Given the description of an element on the screen output the (x, y) to click on. 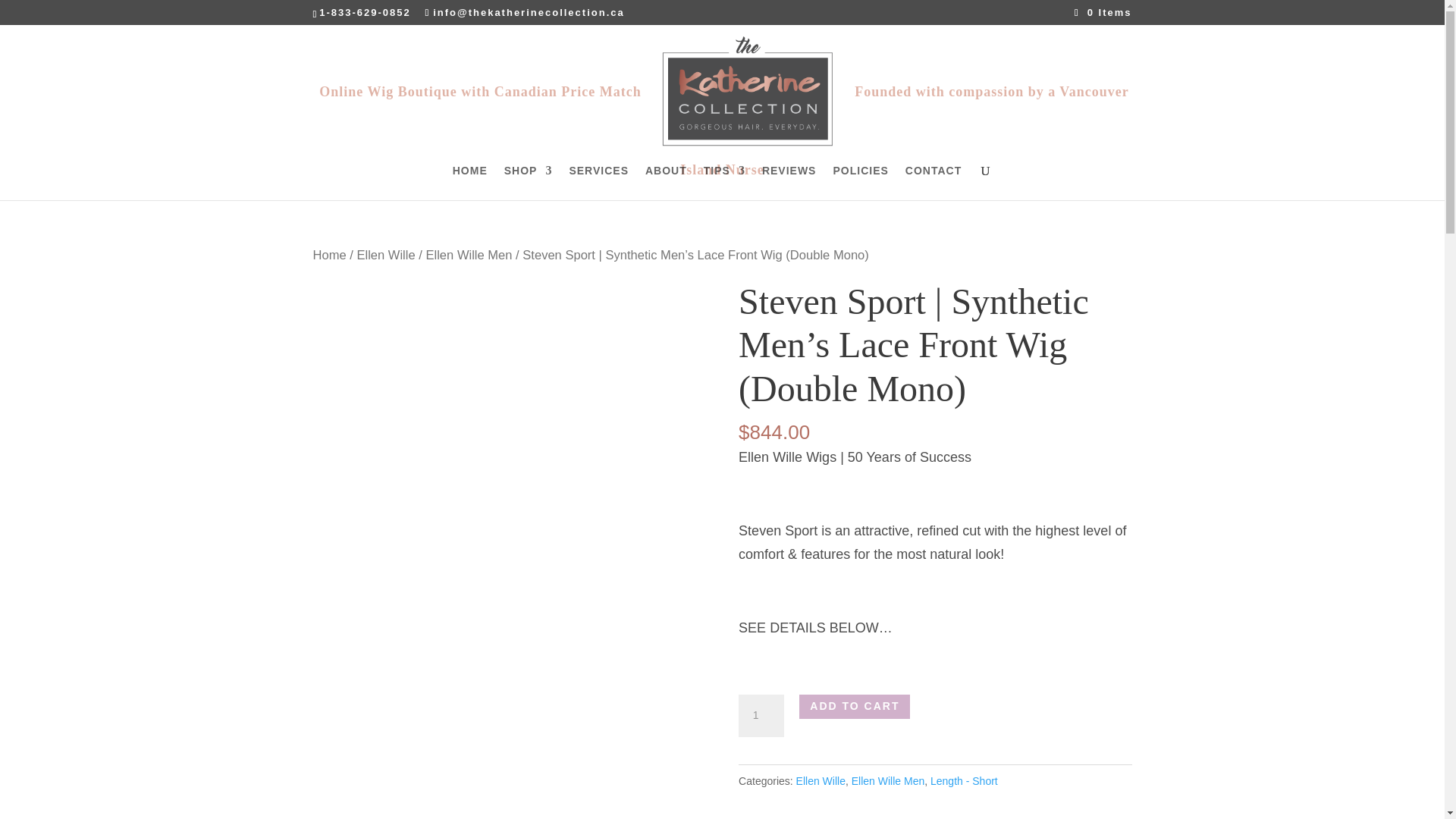
HOME (469, 182)
Ellen Wille (385, 254)
1-833-629-0852 (364, 12)
Ellen Wille Men (468, 254)
POLICIES (860, 182)
SHOP (528, 182)
TIPS (724, 182)
CONTACT (932, 182)
Home (329, 254)
REVIEWS (788, 182)
